Given the description of an element on the screen output the (x, y) to click on. 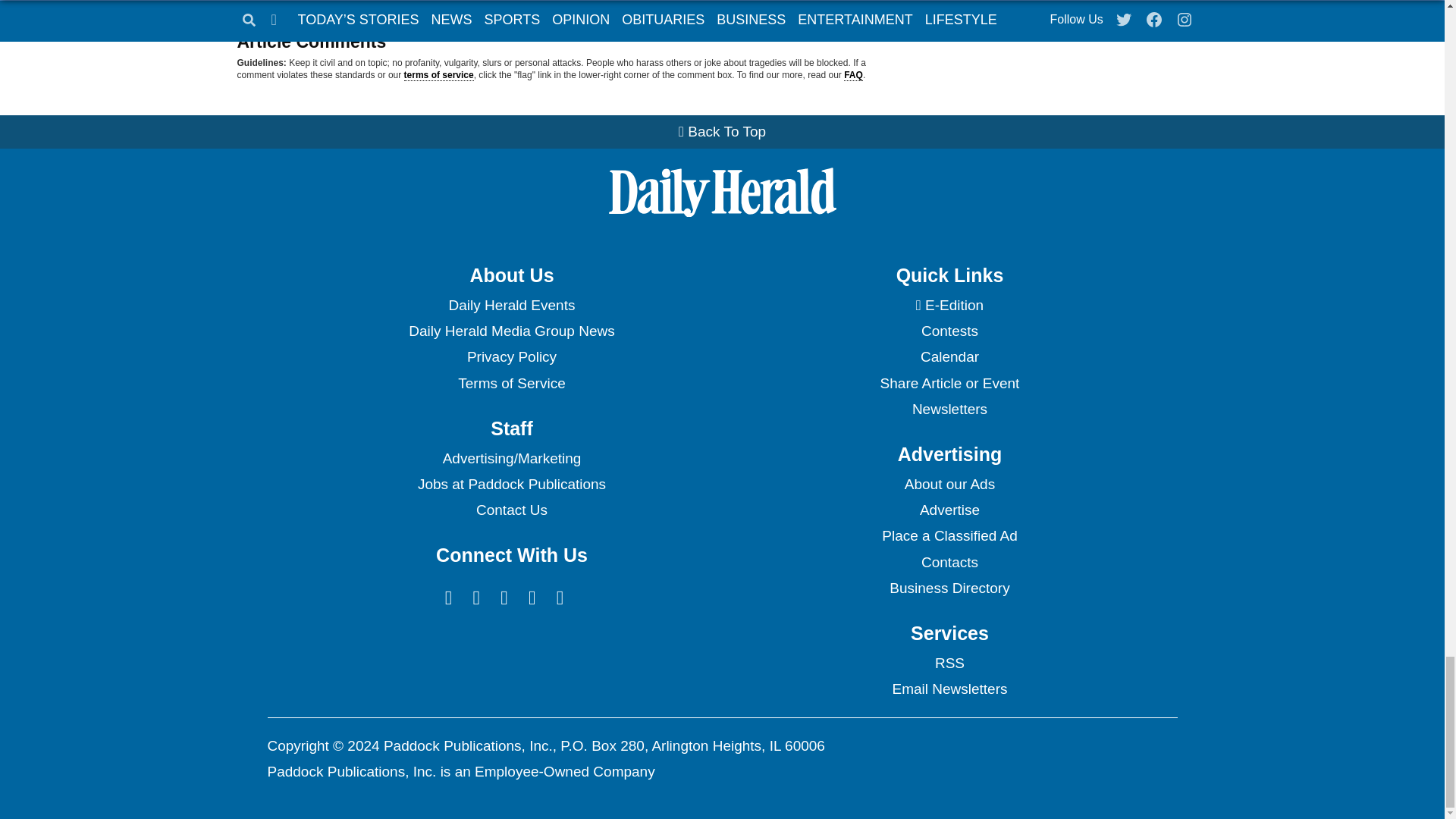
Contests (949, 330)
Daily Herald Media Group News (511, 330)
Contact Us (511, 510)
Daily Herald Events (511, 305)
Privacy Policy (511, 356)
Jobs at Paddock Publications (511, 484)
Terms of Service (511, 383)
Daily Herald Digital Newspaper (949, 305)
